Given the description of an element on the screen output the (x, y) to click on. 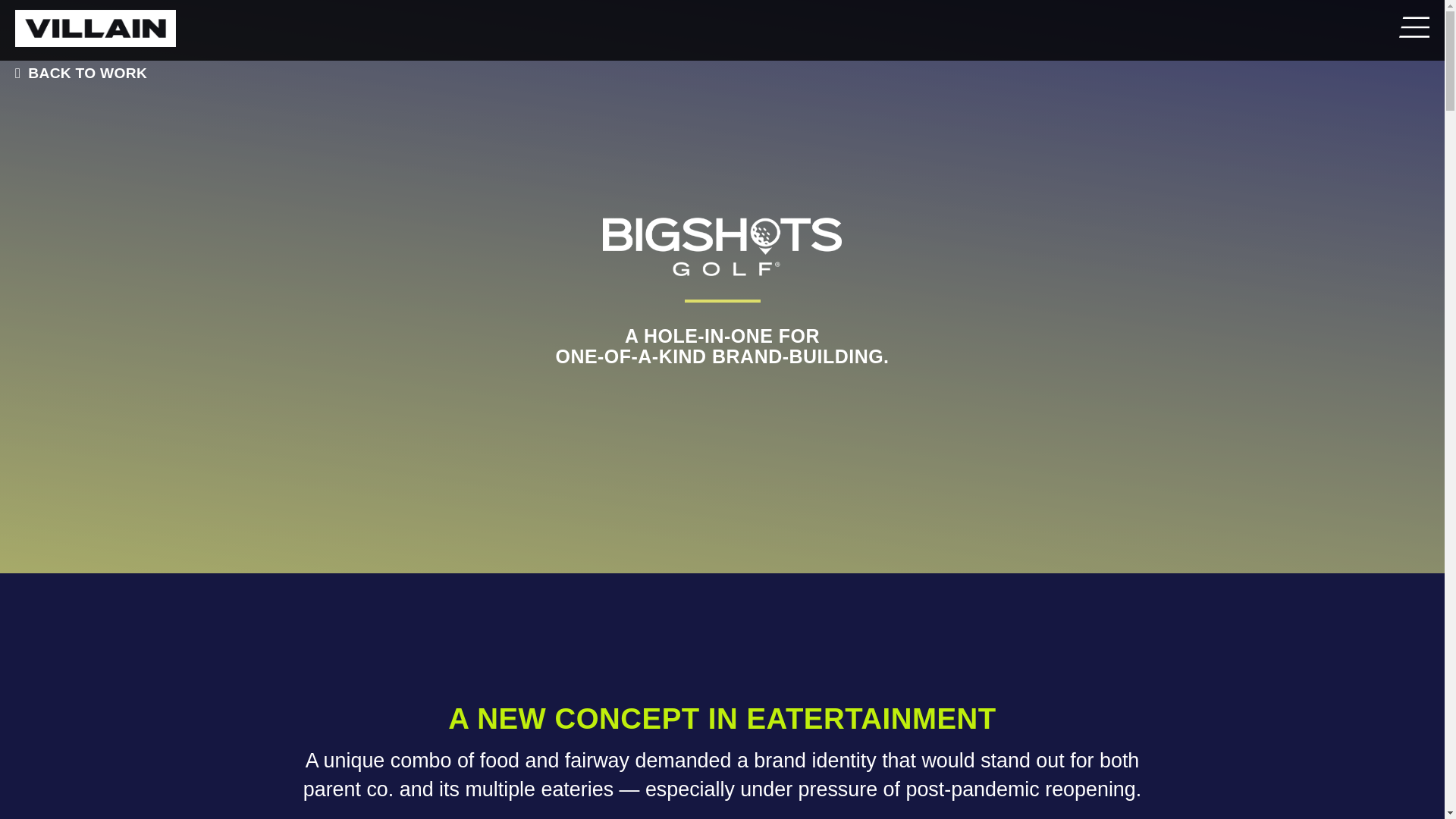
BACK TO WORK (77, 73)
